Given the description of an element on the screen output the (x, y) to click on. 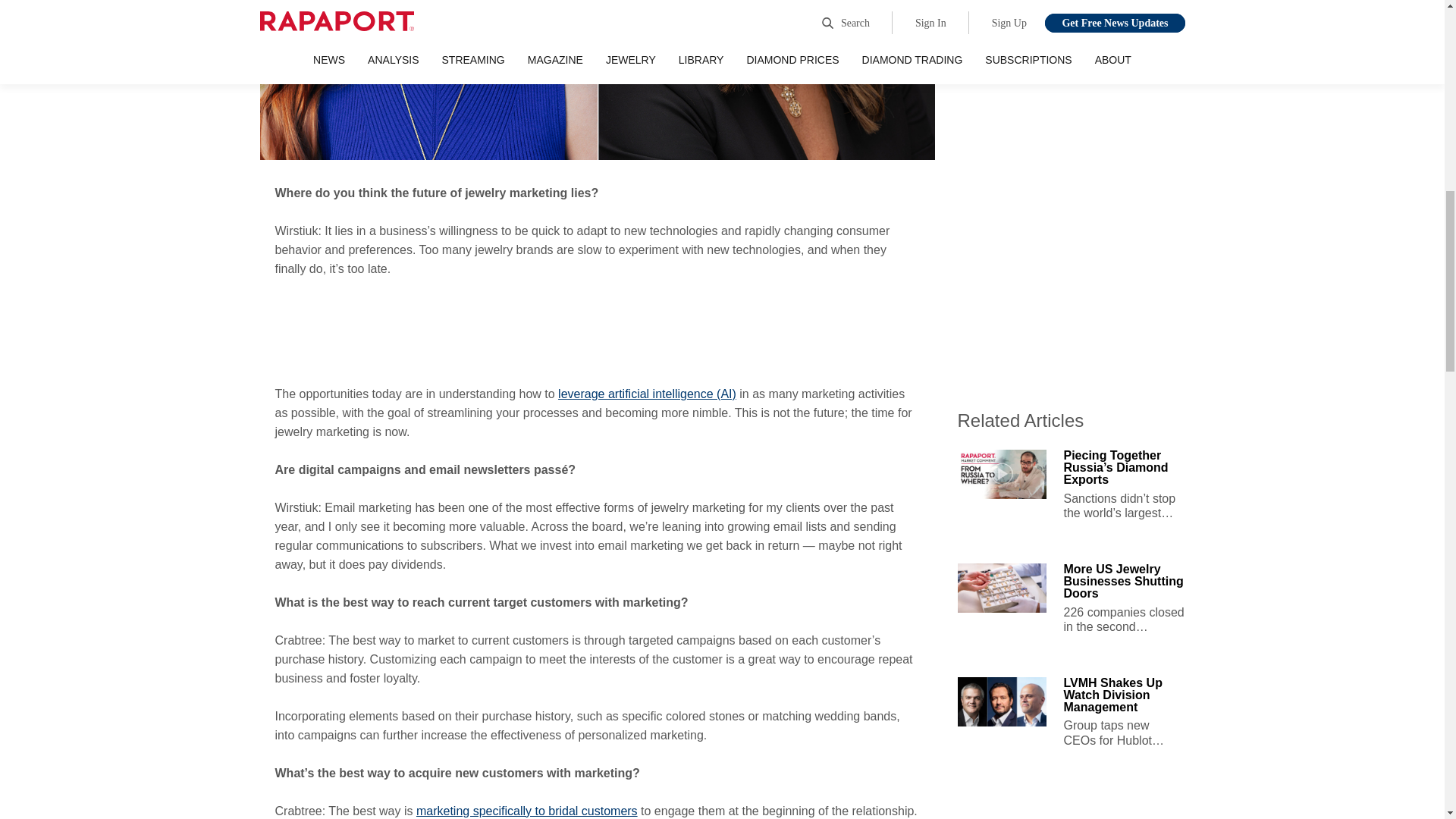
3rd party ad content (1070, 805)
3rd party ad content (1070, 192)
3rd party ad content (597, 332)
